Given the description of an element on the screen output the (x, y) to click on. 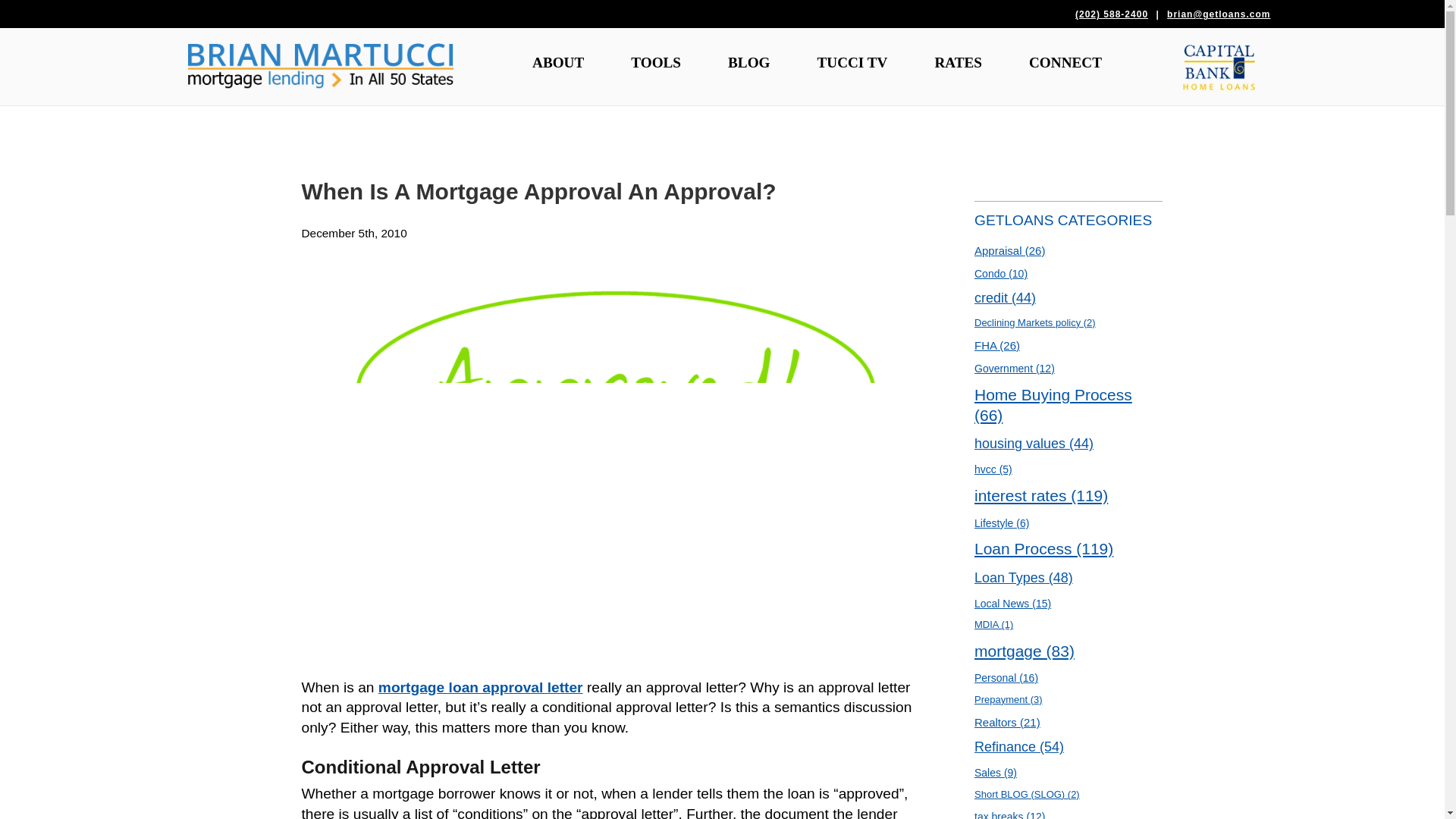
BLOG (748, 62)
mortgage loan approval letter (480, 687)
TUCCI TV (852, 62)
TOOLS (655, 61)
CONNECT (1065, 61)
ABOUT (558, 61)
RATES (957, 62)
